Given the description of an element on the screen output the (x, y) to click on. 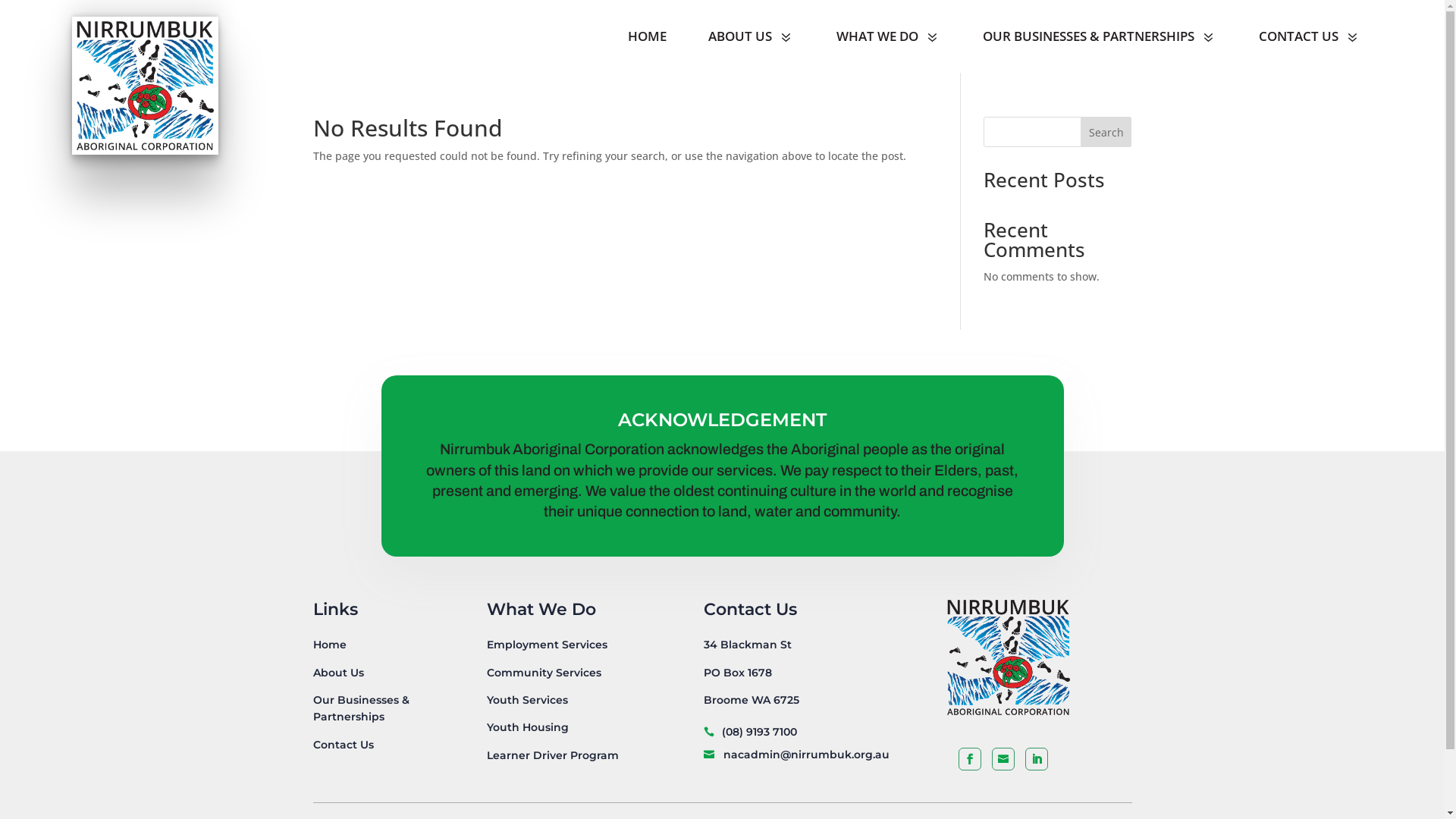
Employment Services Element type: text (546, 644)
Youth Housing Element type: text (527, 727)
7
WHAT WE DO Element type: text (888, 36)
Follow on LinkedIn Element type: hover (1036, 758)
7
ABOUT US Element type: text (751, 36)
7
OUR BUSINESSES & PARTNERSHIPS Element type: text (1099, 36)
Home Element type: text (328, 644)
Contact Us Element type: text (342, 744)
Learner Driver Program Element type: text (552, 755)
7
CONTACT US Element type: text (1309, 36)
Follow on Facebook Element type: hover (969, 758)
Our Businesses & Partnerships Element type: text (360, 708)
Search Element type: text (1106, 131)
About Us Element type: text (337, 672)
Community Services Element type: text (543, 672)
HOME Element type: text (646, 36)
Youth Services Element type: text (526, 699)
34 Blackman St Element type: text (747, 644)
Email Us Element type: hover (1002, 758)
